Given the description of an element on the screen output the (x, y) to click on. 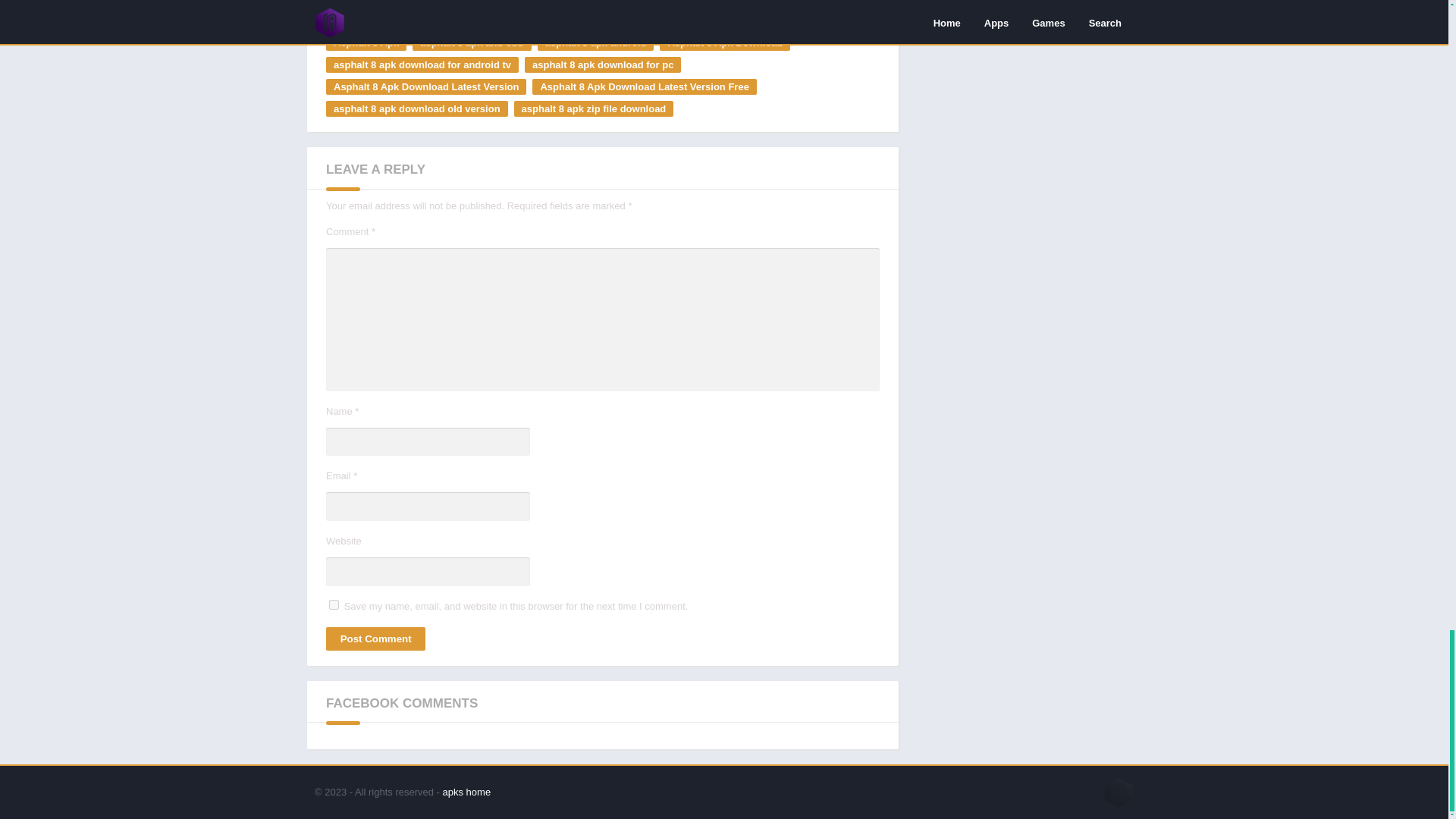
asphalt 8 apk and obb (471, 42)
yes (334, 604)
Post Comment (375, 638)
Asphalt 8 Apk (366, 42)
